Given the description of an element on the screen output the (x, y) to click on. 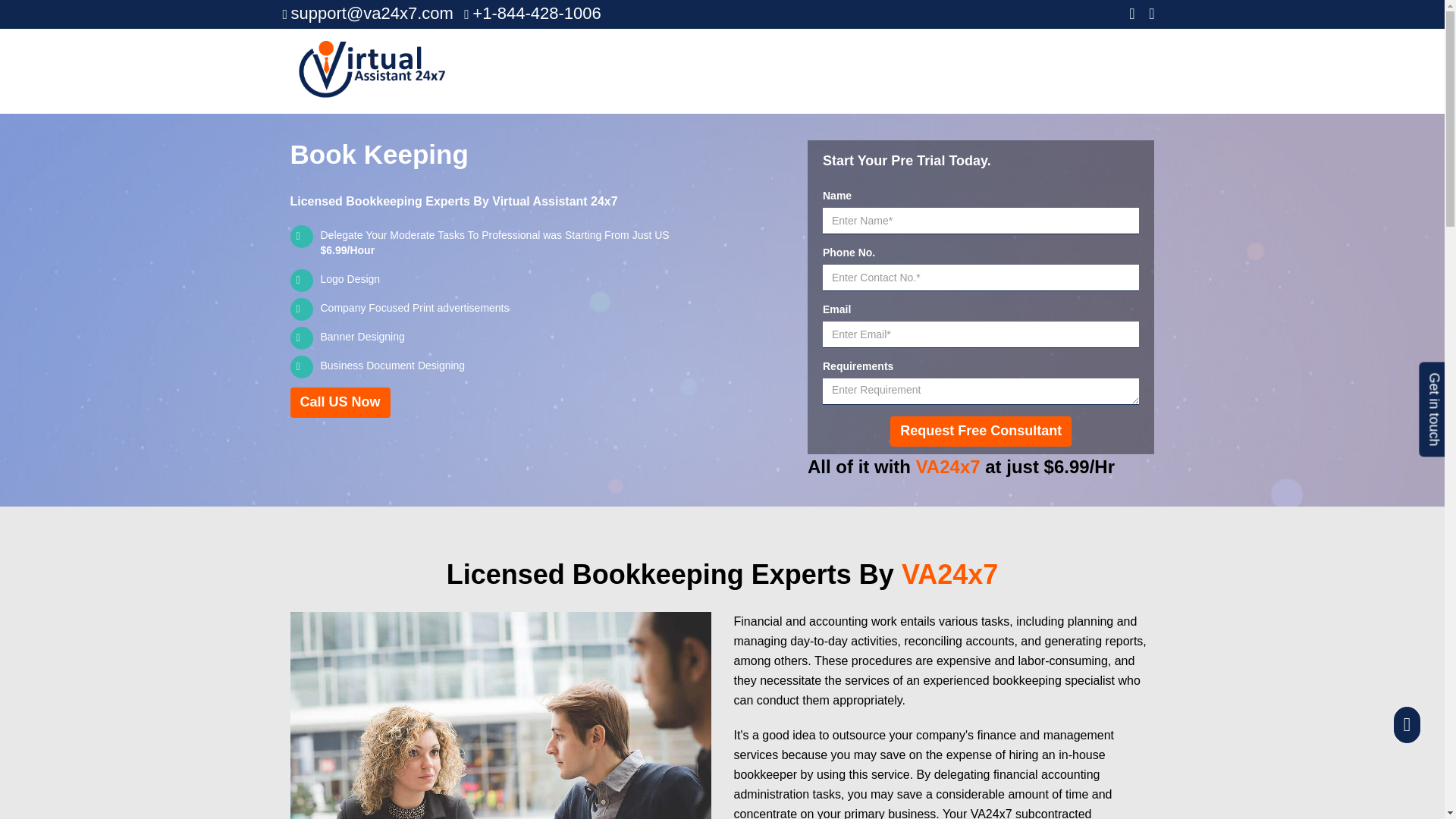
Linkedin (1150, 13)
Request Free Consultant (980, 431)
Facebook (1131, 13)
Call US Now (339, 402)
